Given the description of an element on the screen output the (x, y) to click on. 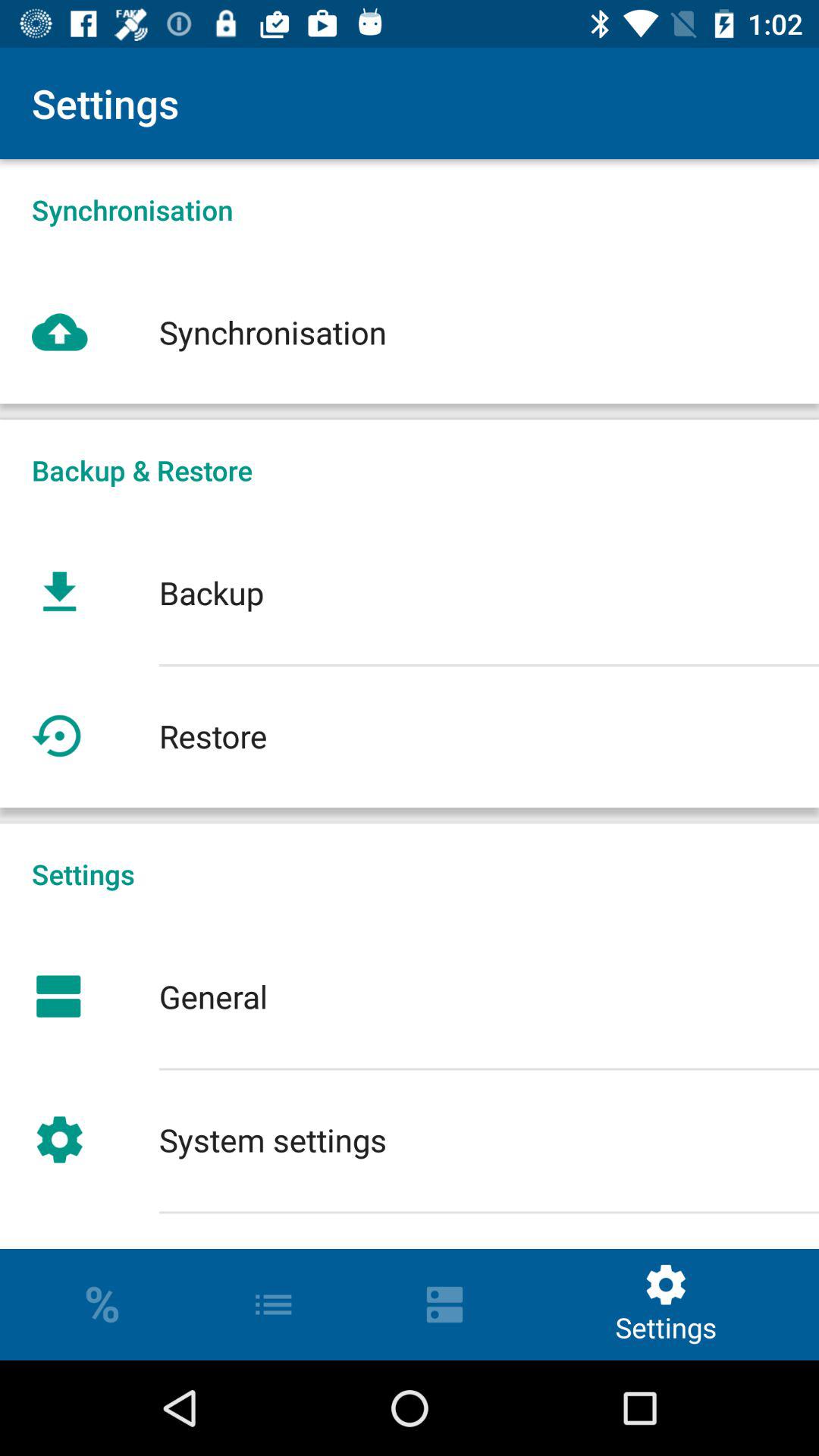
turn on item below the settings item (409, 996)
